Given the description of an element on the screen output the (x, y) to click on. 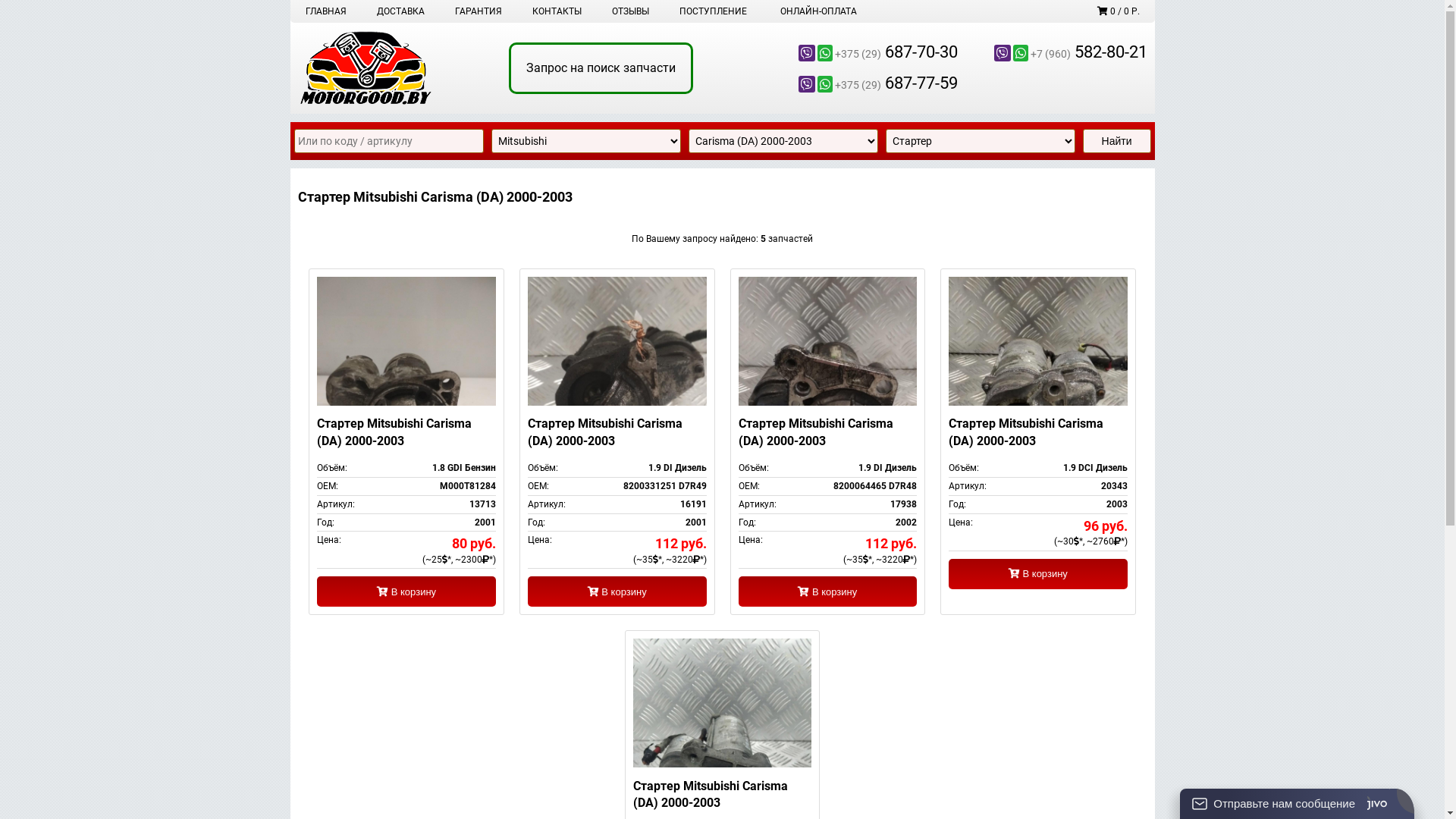
+7 (960) 582-80-21 Element type: text (1051, 52)
+375 (29) 687-77-59 Element type: text (862, 83)
+375 (29) 687-70-30 Element type: text (862, 52)
